Given the description of an element on the screen output the (x, y) to click on. 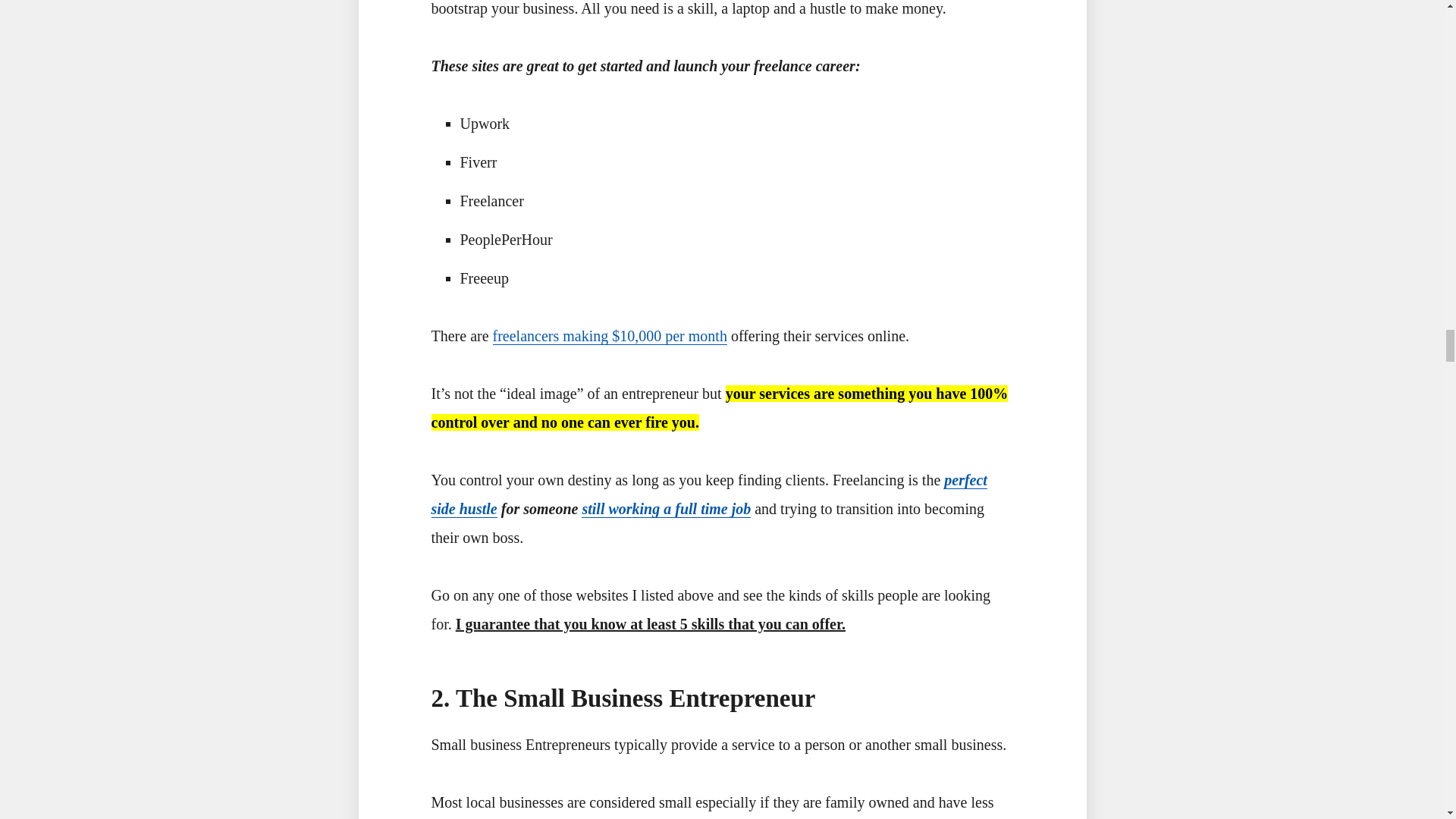
perfect side hustle (708, 494)
still working a full time job (665, 508)
